Given the description of an element on the screen output the (x, y) to click on. 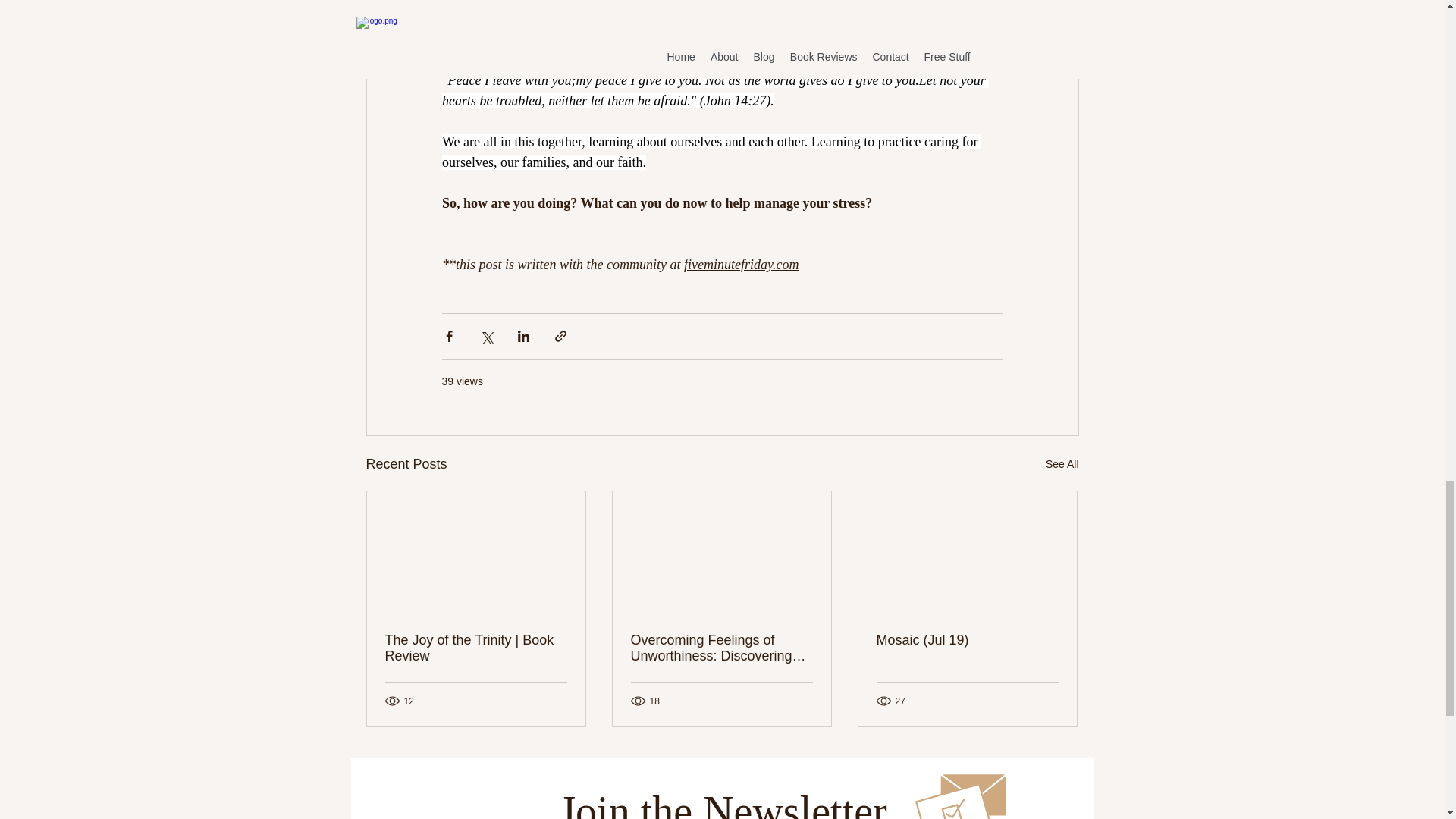
fiveminutefriday.com (740, 264)
See All (1061, 464)
